Given the description of an element on the screen output the (x, y) to click on. 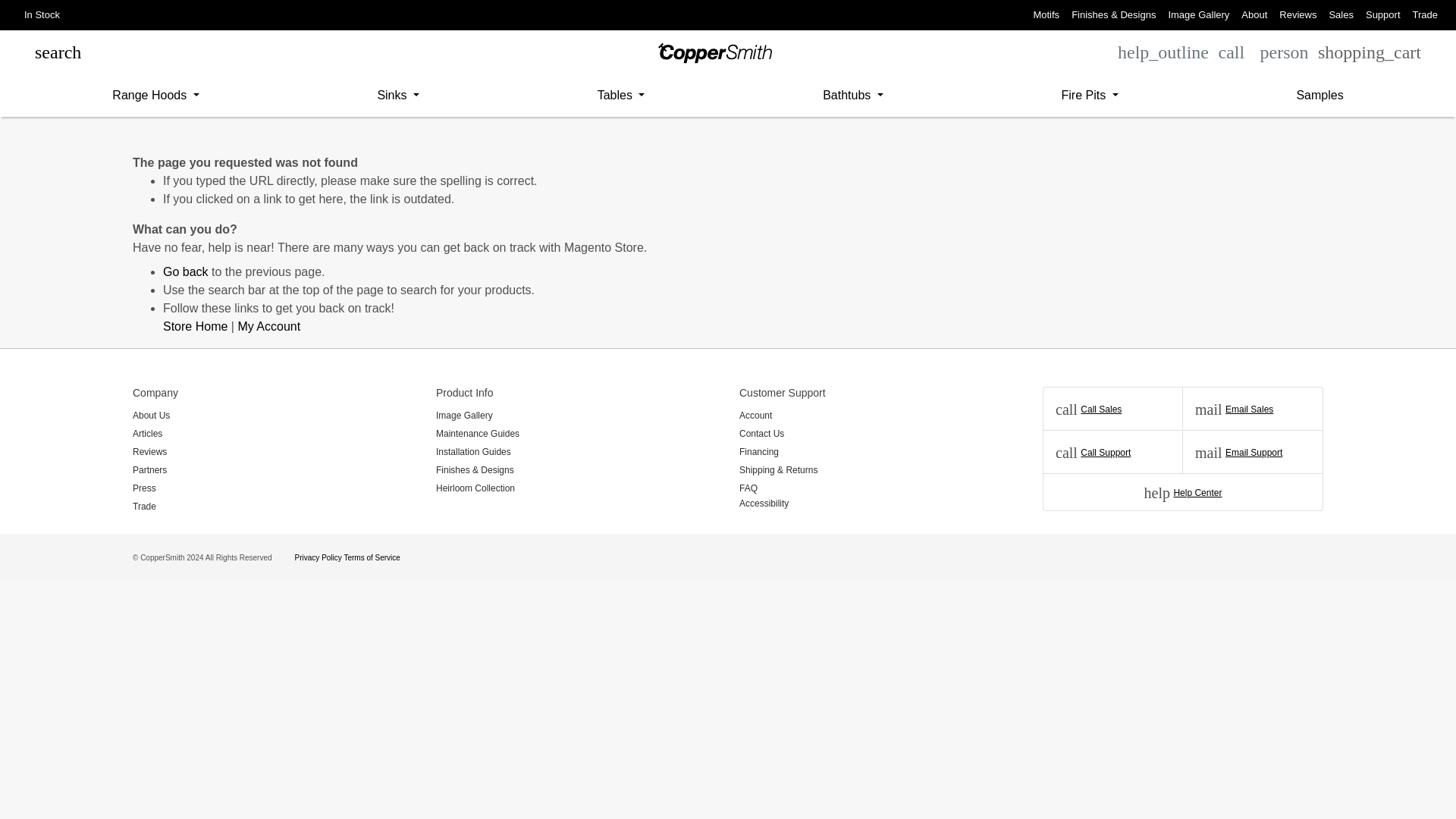
person (1284, 51)
Trade (1425, 14)
Image Gallery (1197, 14)
Coppersmith (714, 52)
Range Hoods (155, 95)
search (57, 51)
call (1230, 51)
Reviews (1297, 14)
Sinks (398, 95)
Support (1382, 14)
Sales (1340, 14)
In Stock (41, 14)
Motifs (1045, 14)
About (1253, 14)
